Given the description of an element on the screen output the (x, y) to click on. 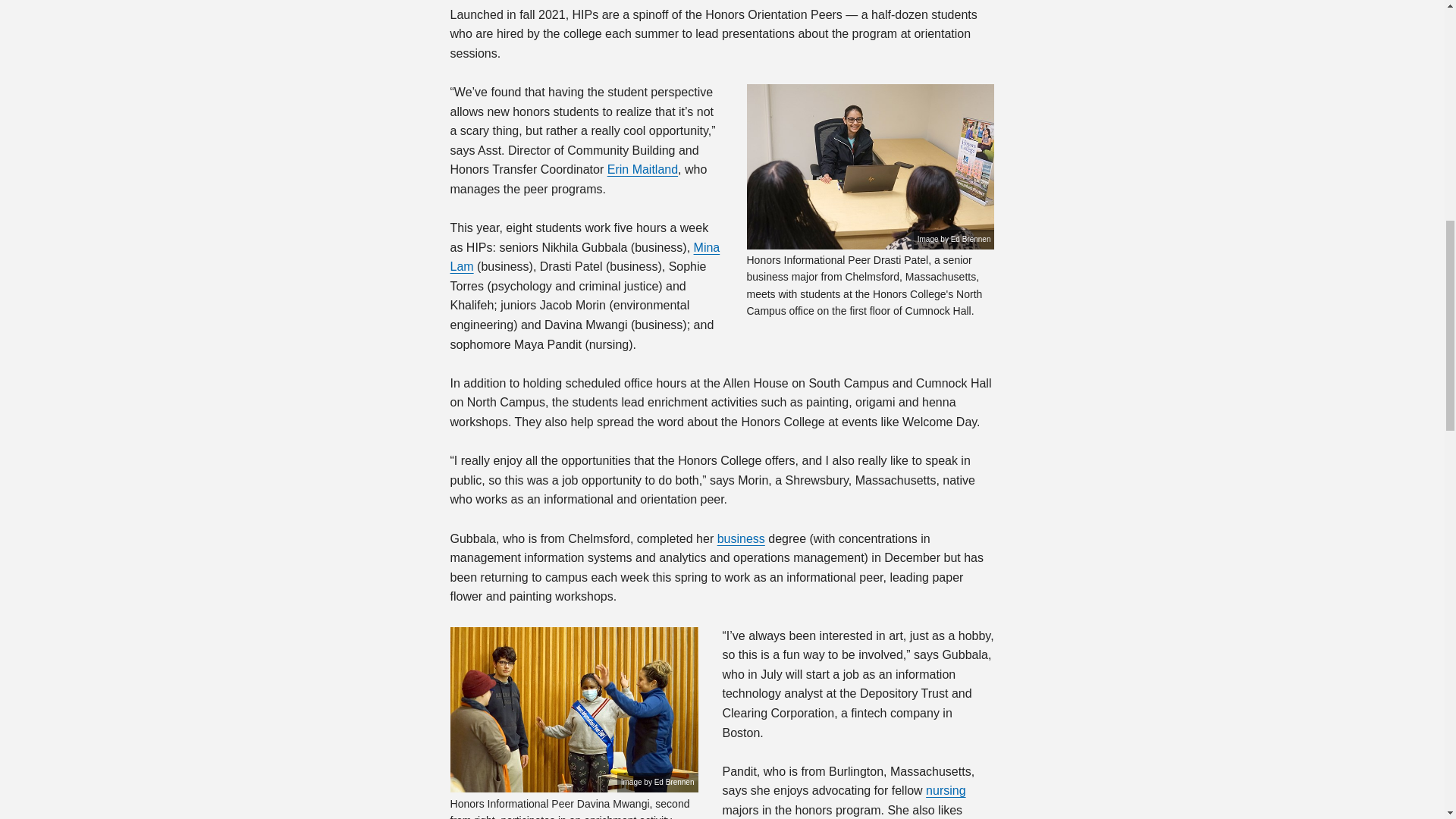
Mina-Lam (584, 256)
link this for Nursing landing page (945, 789)
Erin Maitland (642, 169)
link this for landing page (741, 538)
Mina Lam (584, 256)
nursing (945, 789)
Maitland-Erin (642, 169)
business (741, 538)
